Given the description of an element on the screen output the (x, y) to click on. 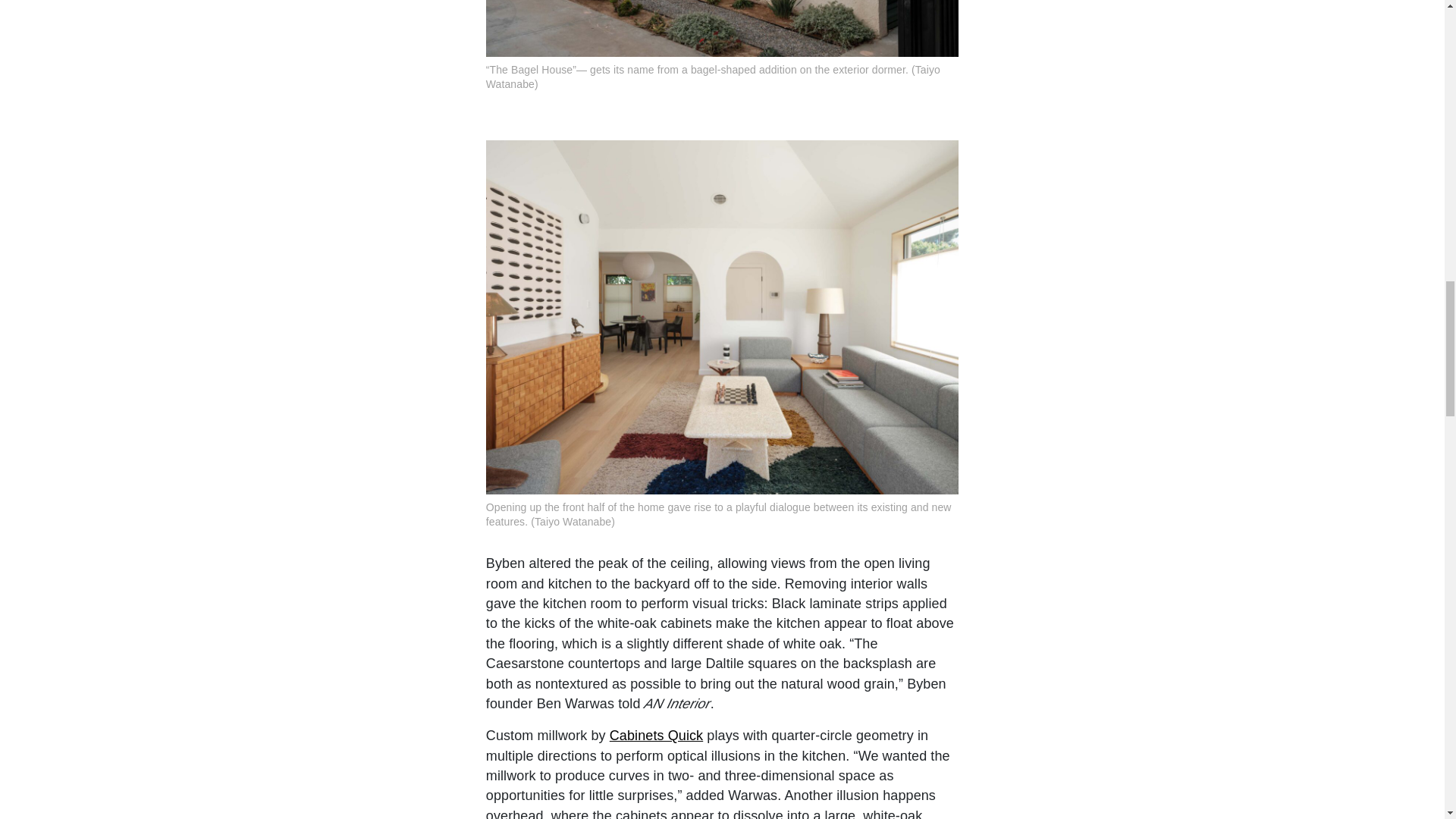
Cabinets Quick (656, 735)
